Given the description of an element on the screen output the (x, y) to click on. 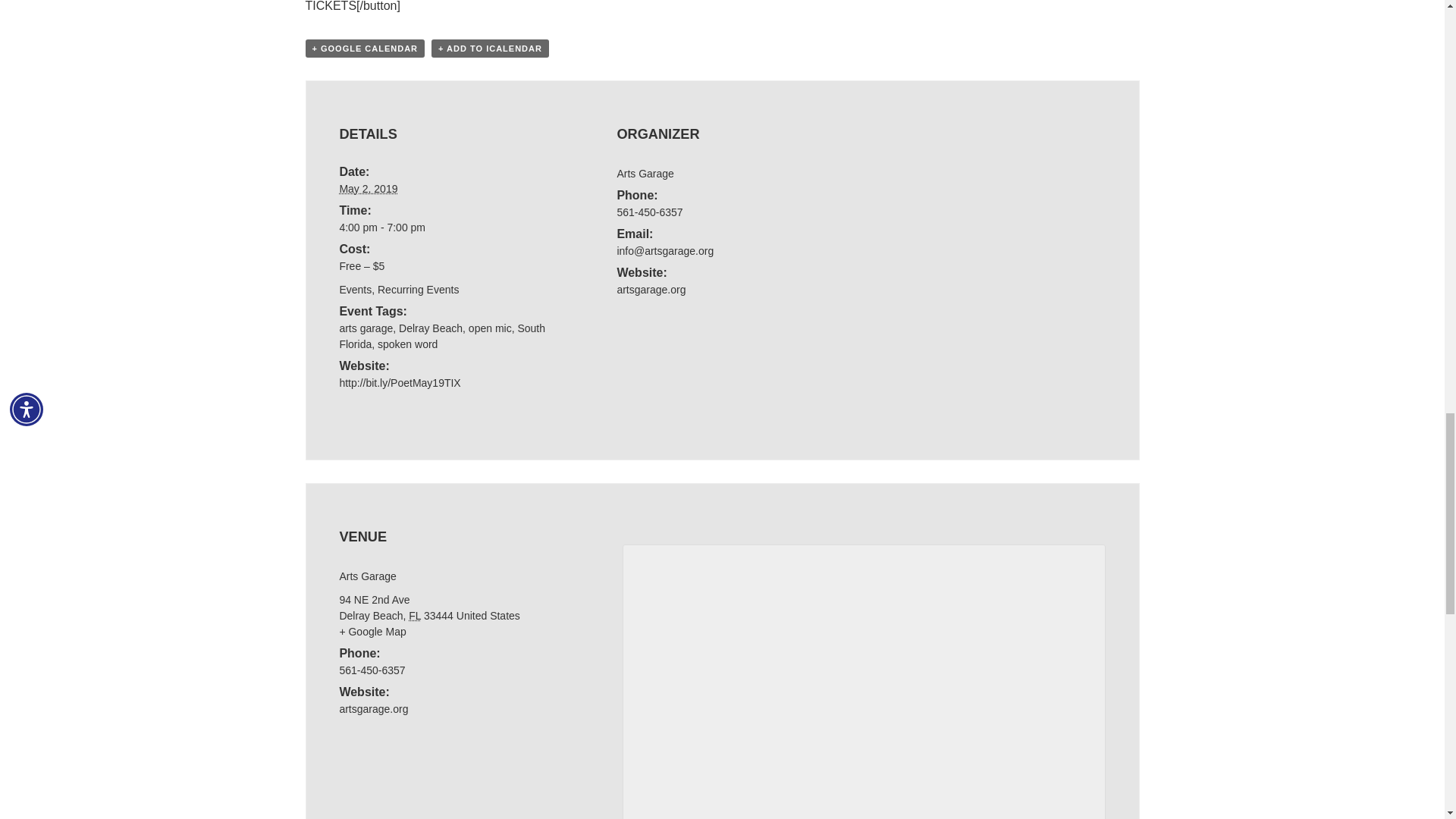
2019-05-02 (444, 227)
google (868, 681)
2019-05-02 (368, 188)
Florida (414, 615)
Download .ics file (489, 48)
Arts Garage (643, 173)
Click to view a Google Map (372, 631)
Add to Google Calendar (364, 48)
